Given the description of an element on the screen output the (x, y) to click on. 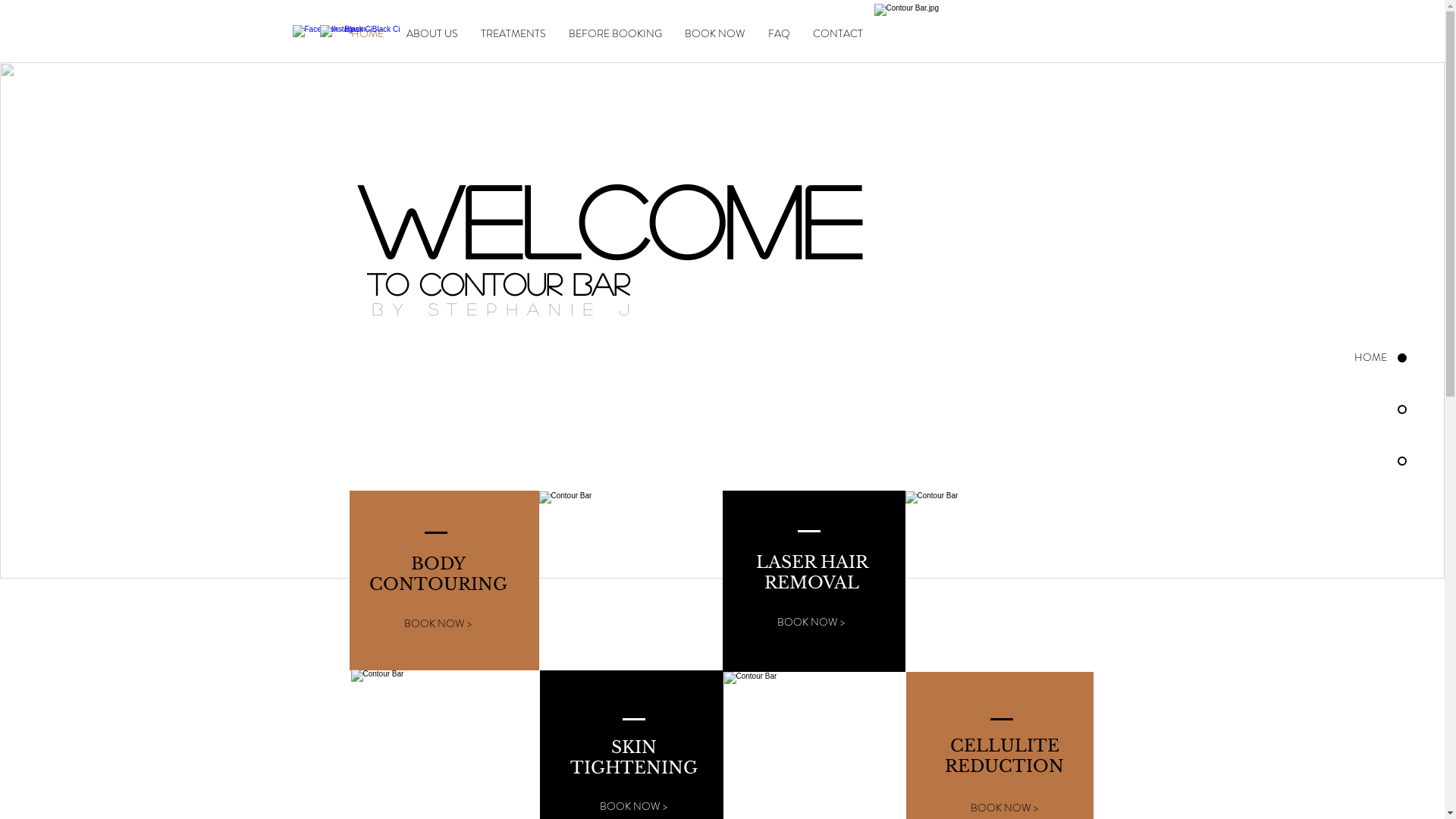
BOOK NOW Element type: text (714, 33)
HOME Element type: text (1345, 357)
CONTACT Element type: text (836, 33)
FAQ Element type: text (778, 33)
BOOK NOW > Element type: text (437, 623)
BEFORE BOOKING Element type: text (614, 33)
ABOUT US Element type: text (431, 33)
BOOK NOW > Element type: text (810, 622)
TREATMENTS Element type: text (512, 33)
HOME Element type: text (367, 33)
